Given the description of an element on the screen output the (x, y) to click on. 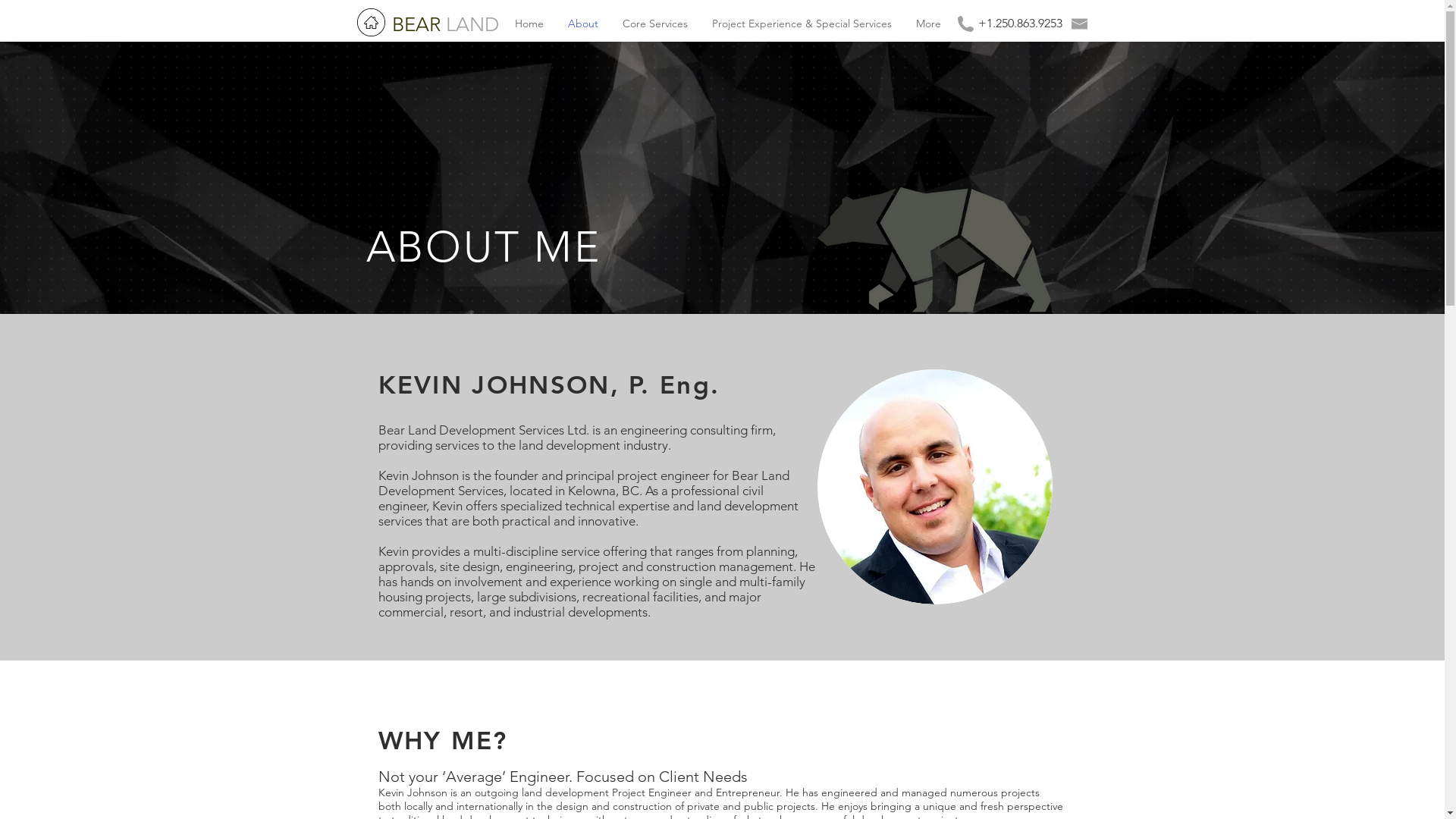
About Element type: text (582, 23)
Raaaaarrr! Element type: hover (934, 246)
Core Services Element type: text (654, 23)
Project Experience & Special Services Element type: text (801, 23)
Home Element type: text (528, 23)
